Given the description of an element on the screen output the (x, y) to click on. 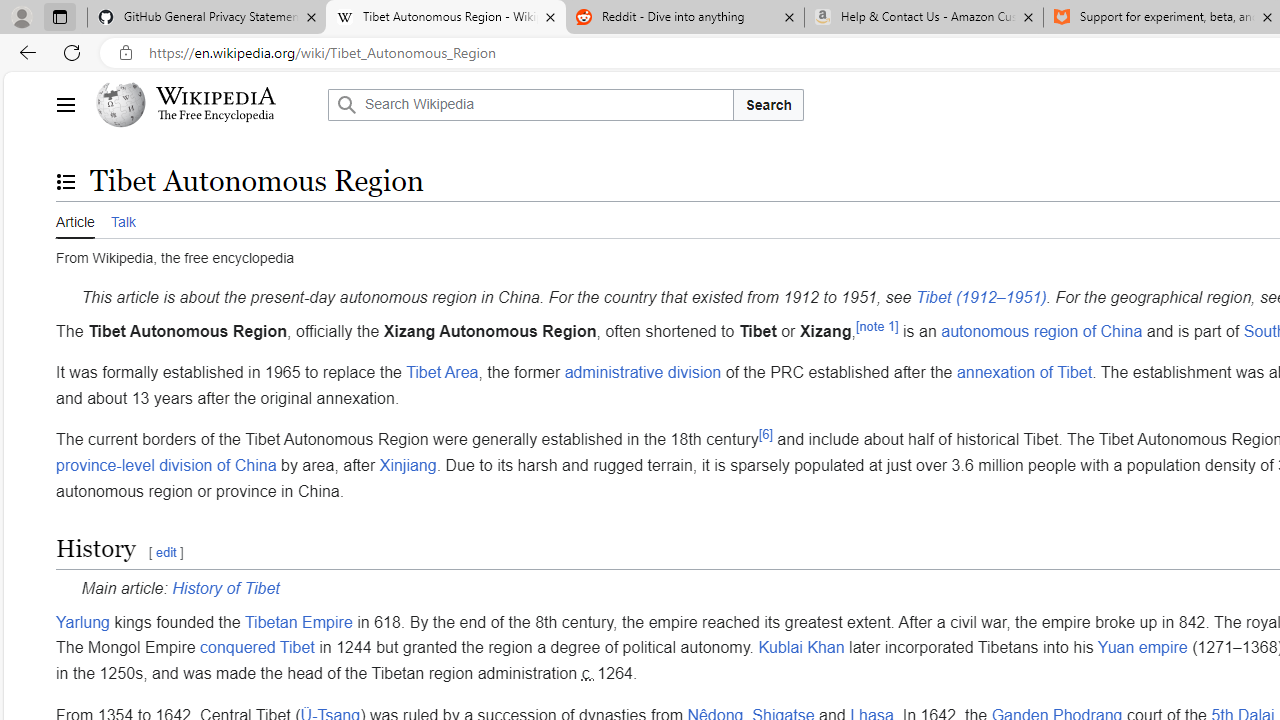
conquered Tibet (256, 647)
Kublai Khan (800, 647)
The Free Encyclopedia (216, 116)
Toggle the table of contents (65, 181)
[6] (765, 434)
Talk (122, 219)
Xinjiang (407, 465)
Wikipedia The Free Encyclopedia (206, 104)
edit (165, 552)
Yuan empire (1141, 647)
administrative division (642, 373)
